Given the description of an element on the screen output the (x, y) to click on. 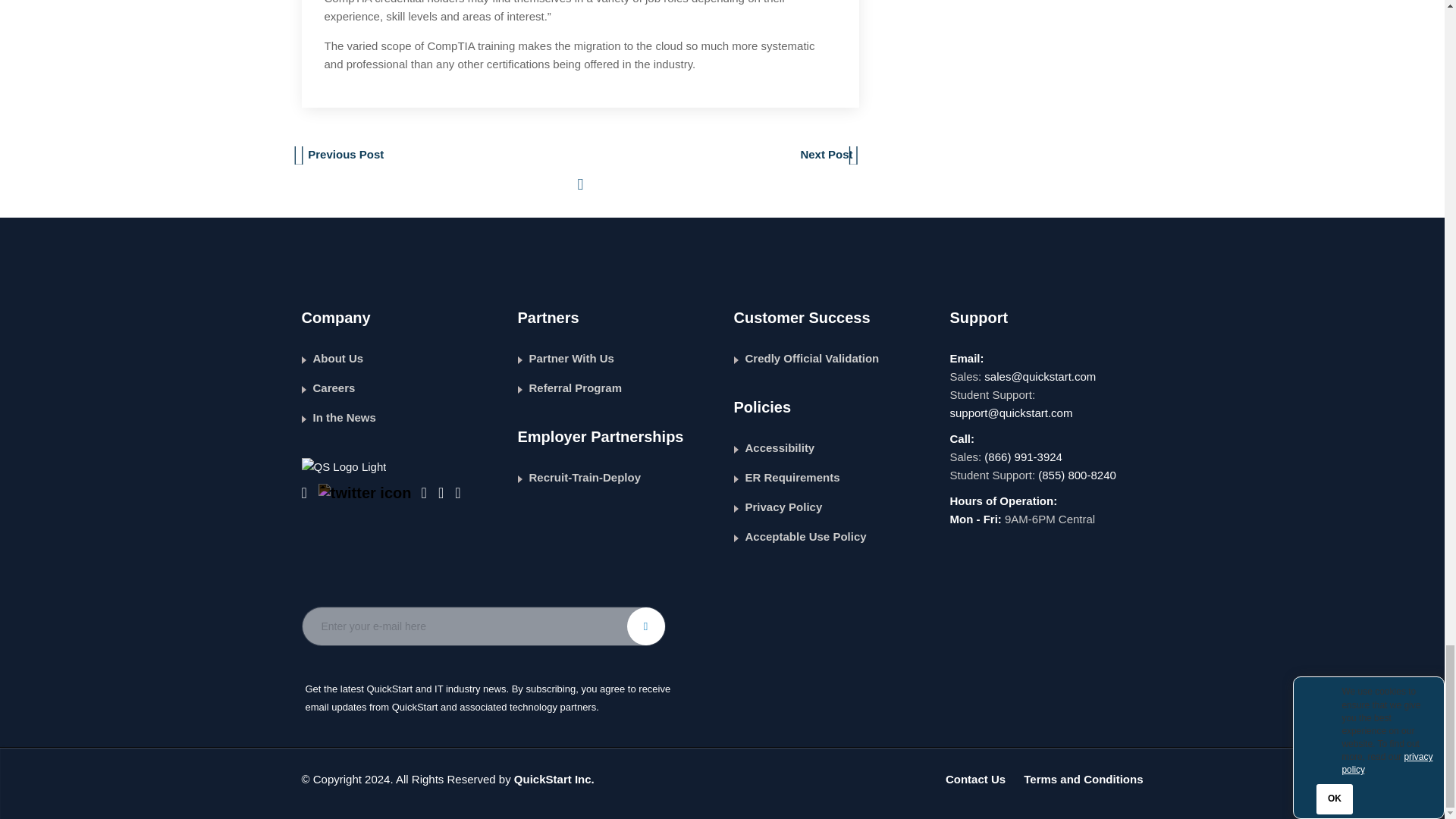
Read Top Enterprise Advantages of ONTAP 9.4 (829, 154)
